Given the description of an element on the screen output the (x, y) to click on. 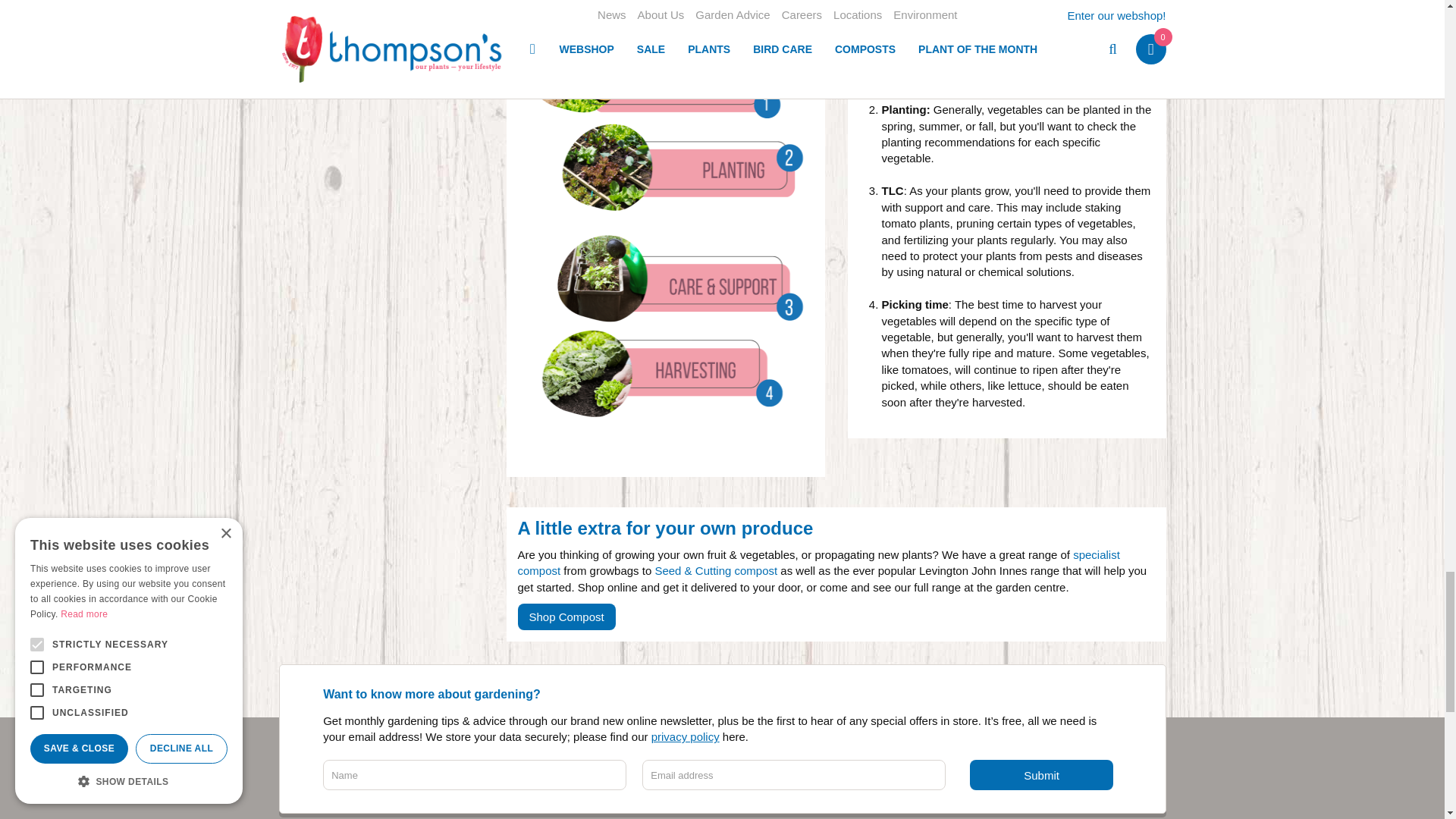
Submit (1041, 775)
